Given the description of an element on the screen output the (x, y) to click on. 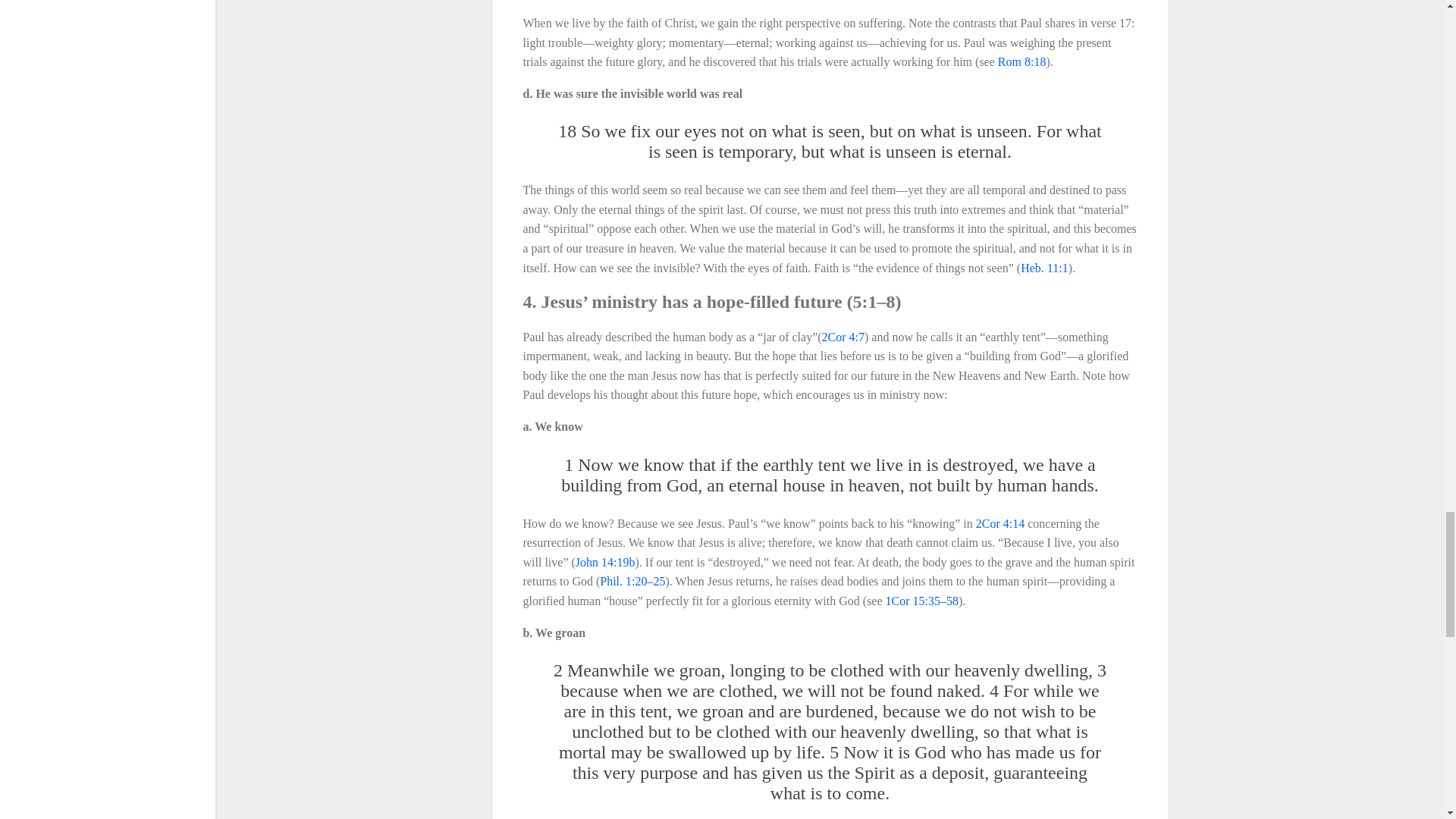
2Cor 4:14 (1000, 522)
Rom 8:18 (1021, 61)
Heb. 11:1 (1044, 267)
John 14:19b (604, 562)
2Cor 4:7 (843, 336)
